Given the description of an element on the screen output the (x, y) to click on. 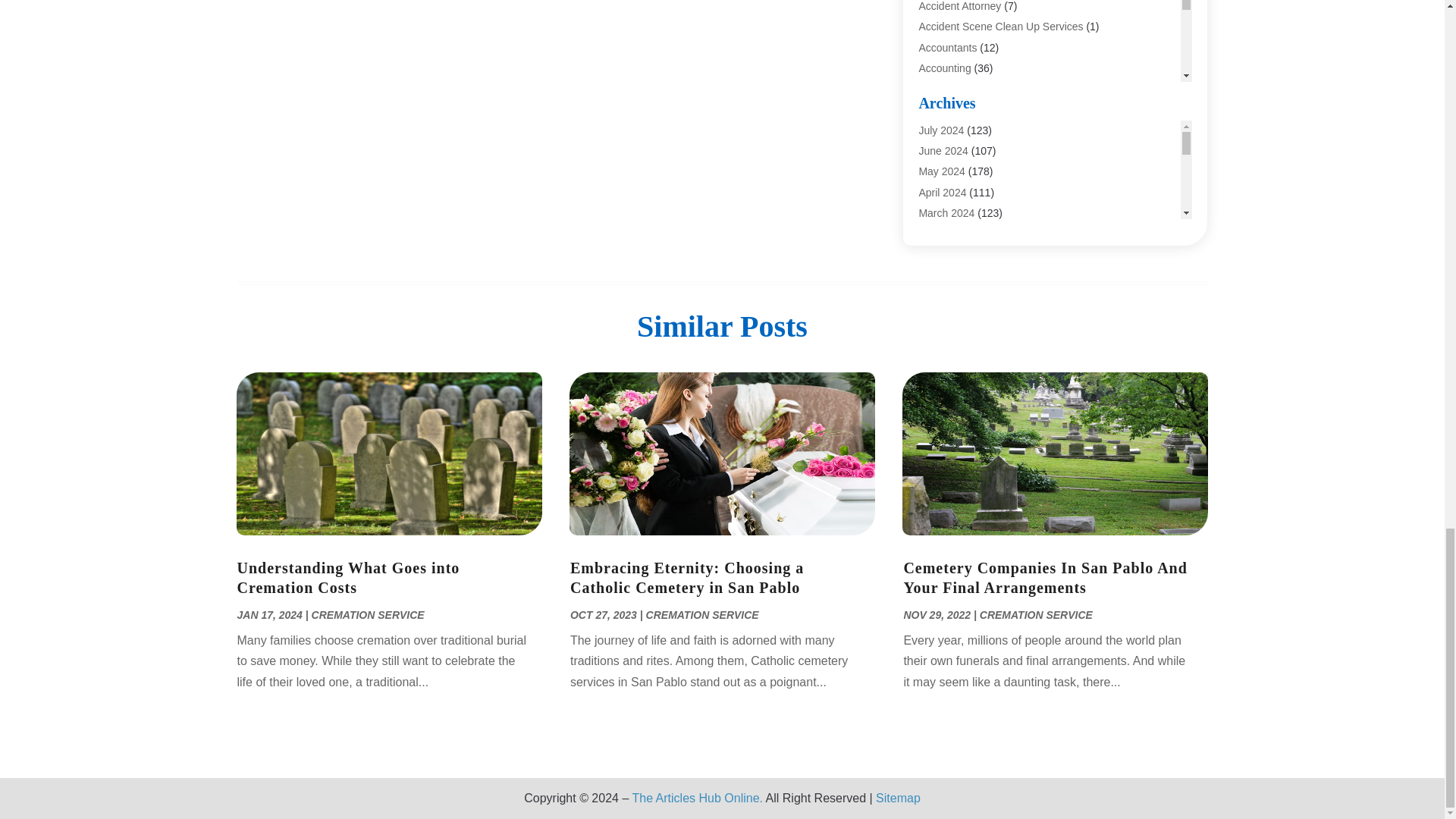
Accident Attorney (959, 6)
Accountants (947, 47)
Accounting (944, 68)
Accident Scene Clean Up Services (1000, 26)
Accounting Services (966, 88)
